Given the description of an element on the screen output the (x, y) to click on. 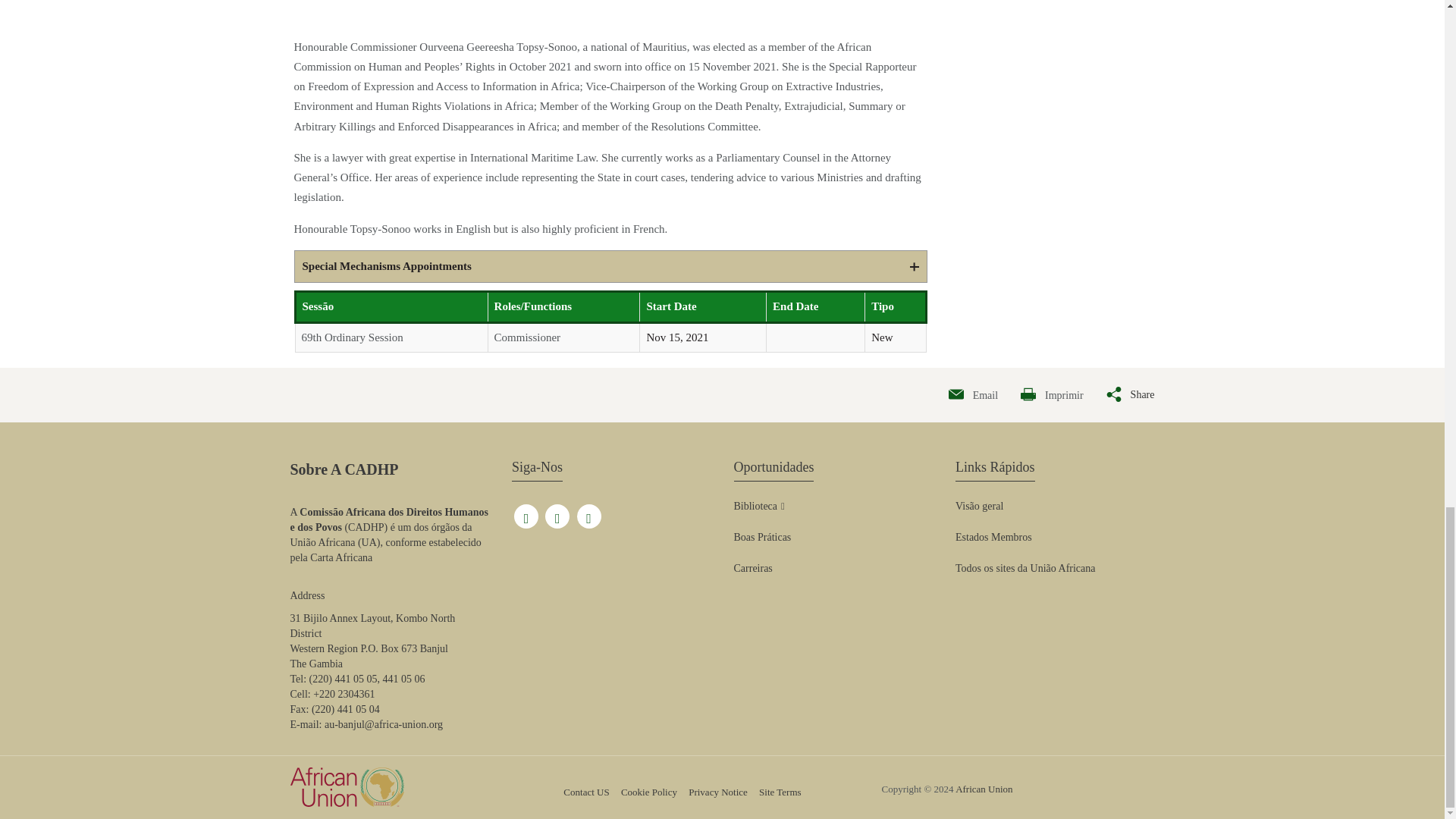
Member States (993, 537)
All African Union websites (1024, 568)
